Given the description of an element on the screen output the (x, y) to click on. 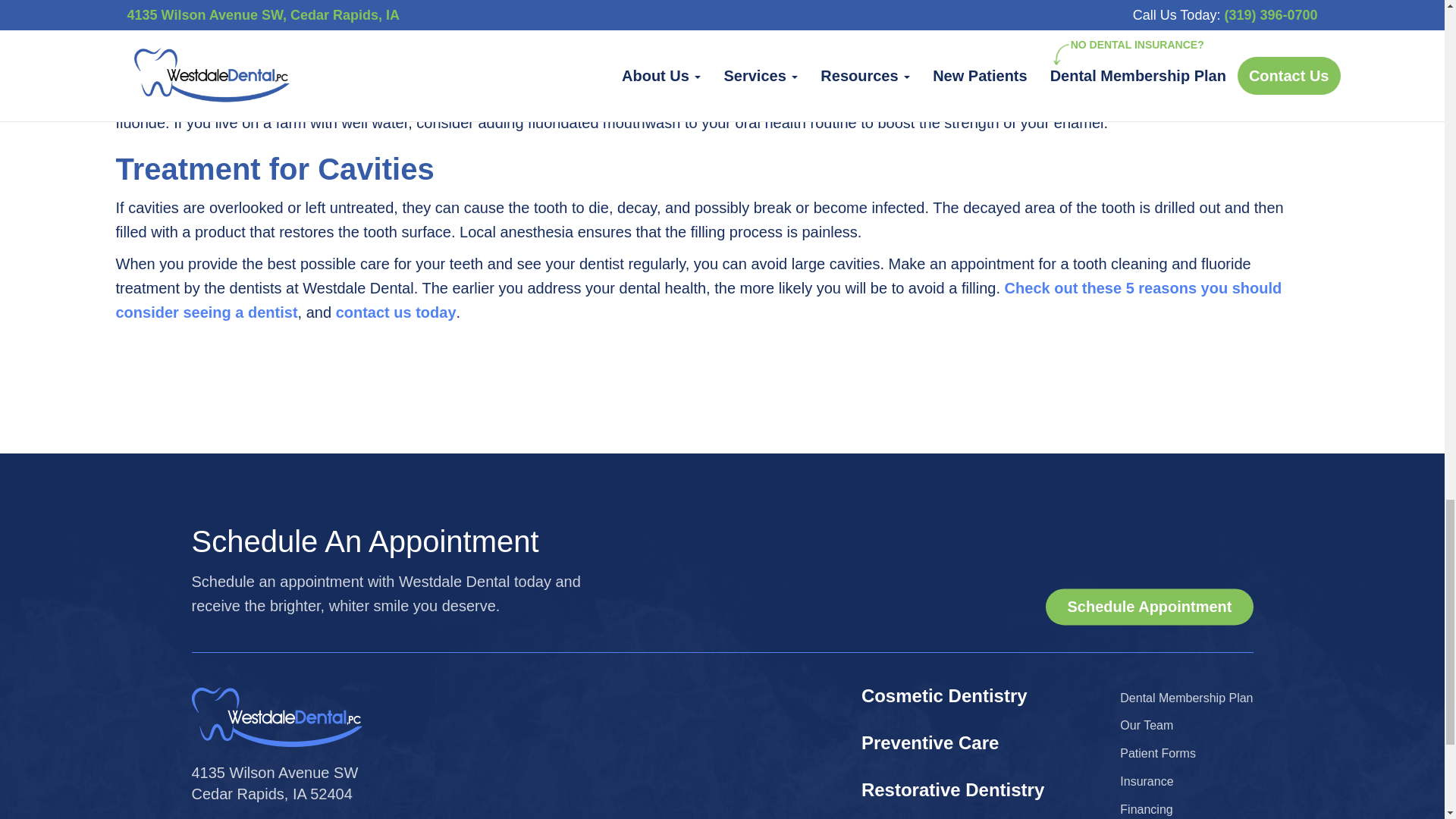
Preventive Care (929, 742)
Patient Forms (1157, 753)
Cosmetic Dentistry (944, 695)
Our Team (1146, 725)
contact us today (396, 311)
Schedule Appointment (274, 782)
Dental Membership Plan (1148, 606)
Restorative Dentistry (1185, 697)
